Given the description of an element on the screen output the (x, y) to click on. 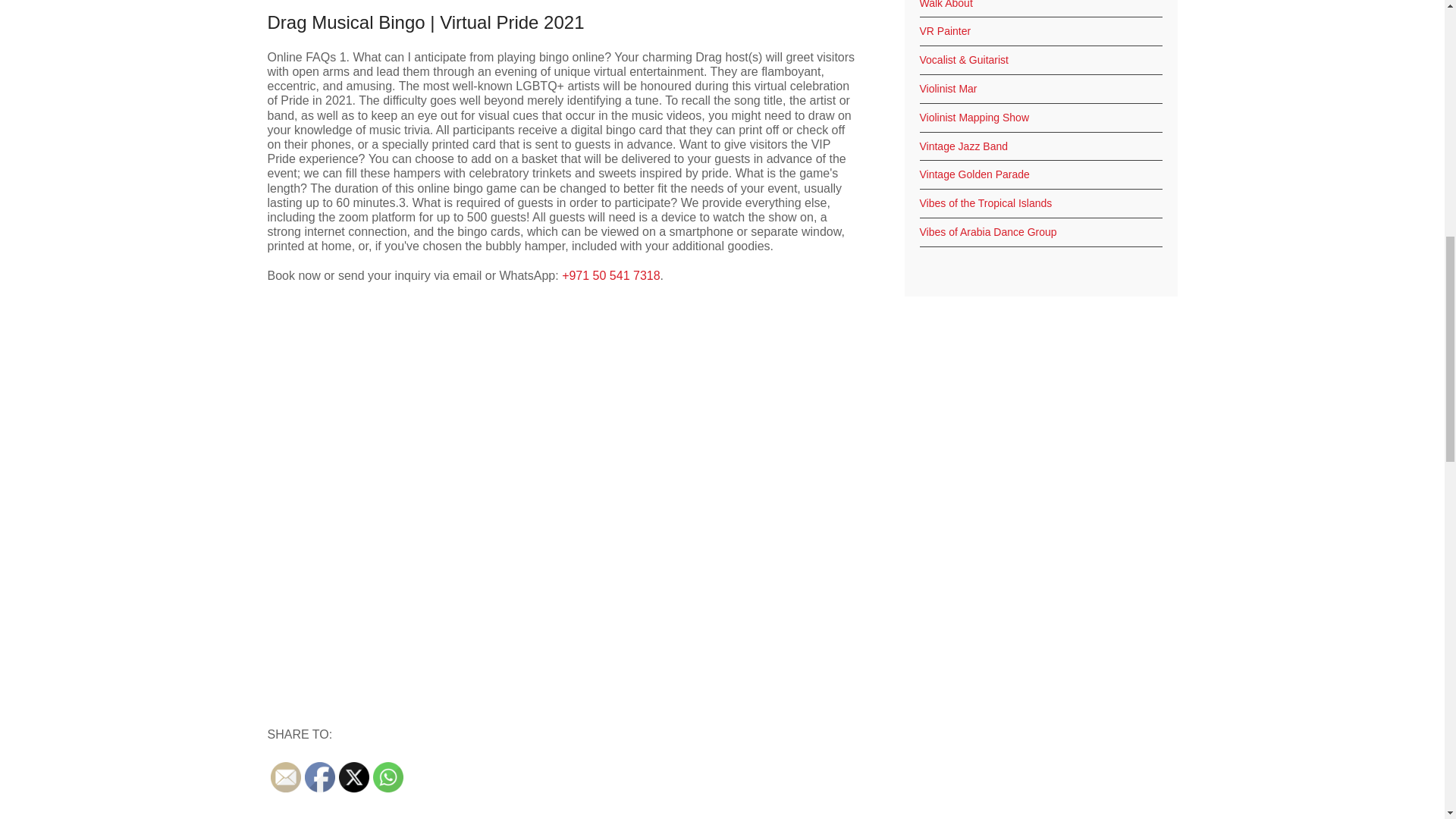
Facebook (319, 777)
WhatsApp (387, 777)
Follow by Email (284, 777)
Twitter (352, 777)
